Given the description of an element on the screen output the (x, y) to click on. 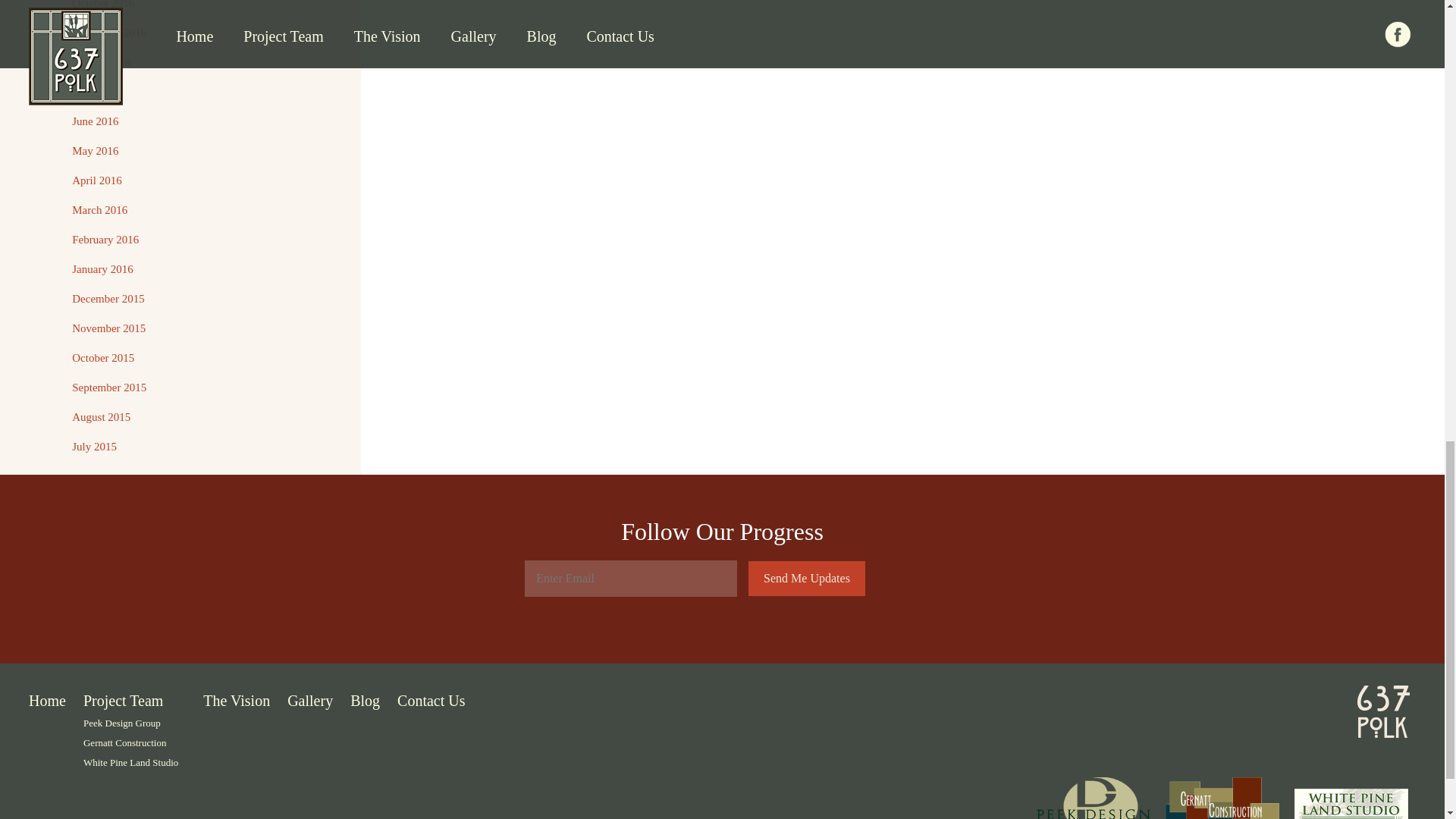
August 2015 (101, 417)
July 2016 (93, 91)
July 2015 (93, 446)
October 2015 (102, 357)
October 2016 (102, 4)
March 2016 (99, 209)
January 2016 (101, 268)
April 2016 (95, 180)
August 2016 (101, 61)
logo (1383, 710)
